Given the description of an element on the screen output the (x, y) to click on. 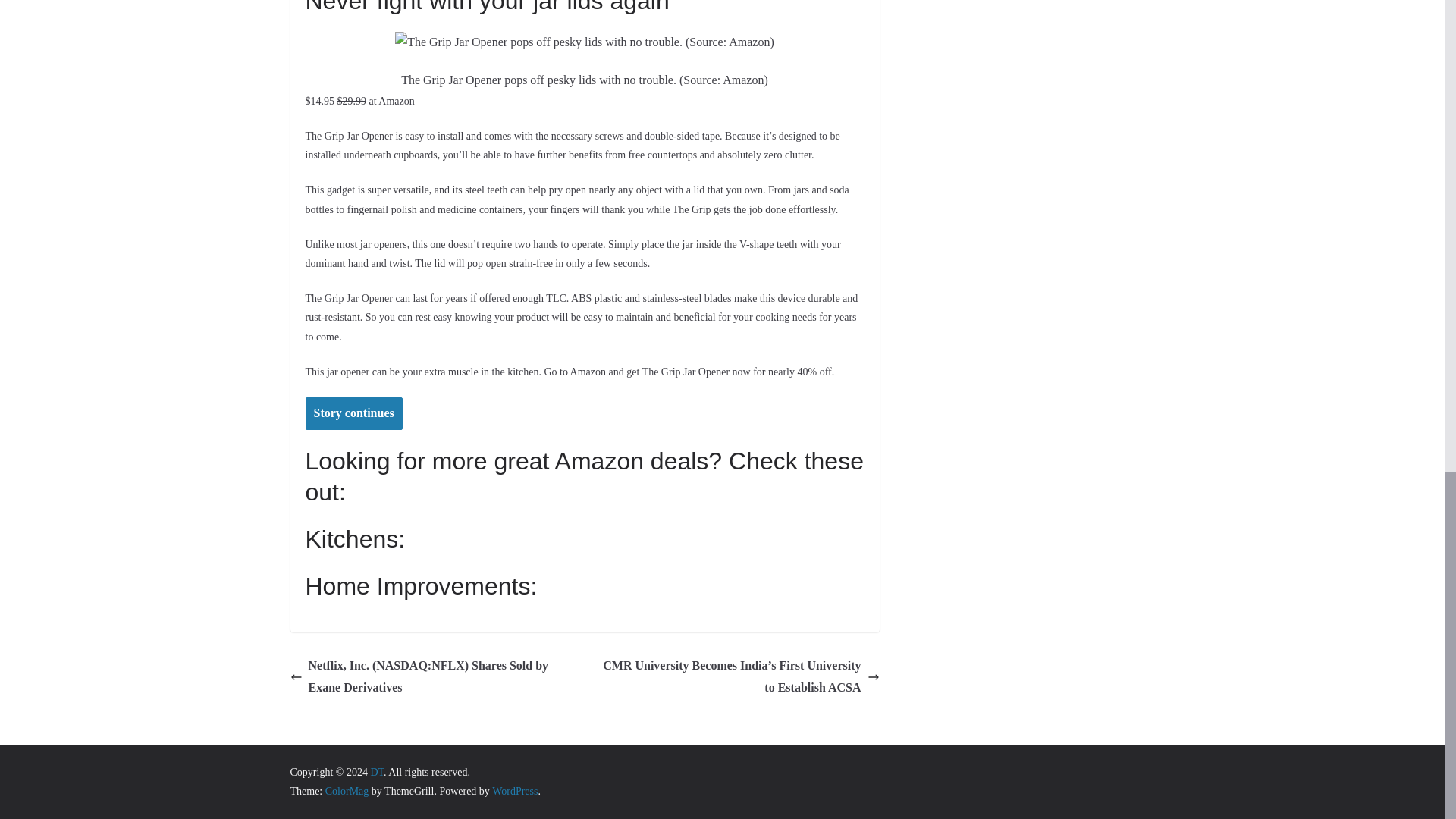
ColorMag (346, 790)
WordPress (514, 790)
ColorMag (346, 790)
Story continues (352, 413)
DT (376, 772)
WordPress (514, 790)
DT (376, 772)
